Given the description of an element on the screen output the (x, y) to click on. 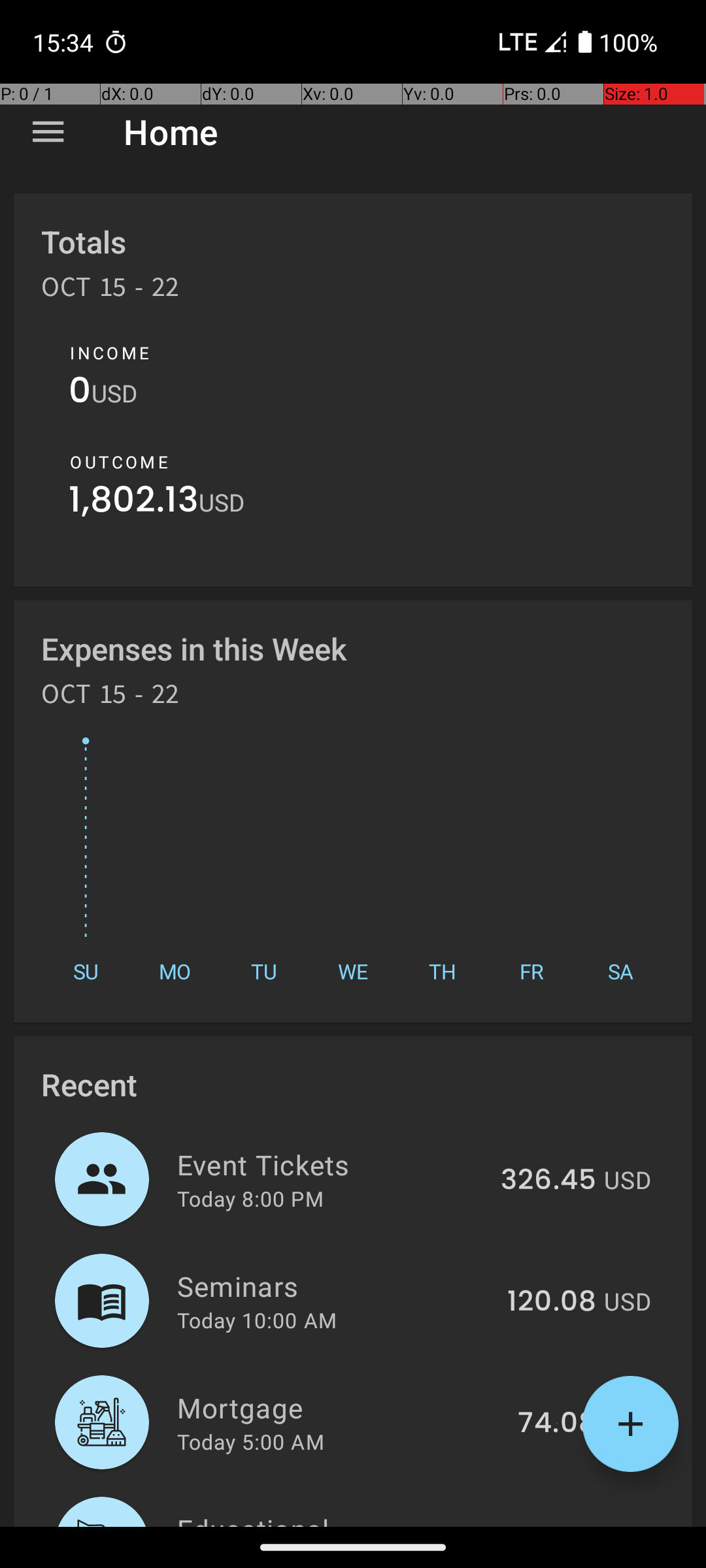
1,802.13 Element type: android.widget.TextView (133, 502)
326.45 Element type: android.widget.TextView (548, 1180)
Seminars Element type: android.widget.TextView (334, 1285)
Today 10:00 AM Element type: android.widget.TextView (256, 1320)
120.08 Element type: android.widget.TextView (551, 1301)
Today 5:00 AM Element type: android.widget.TextView (250, 1441)
74.08 Element type: android.widget.TextView (556, 1423)
Educational Element type: android.widget.TextView (334, 1518)
480.13 Element type: android.widget.TextView (550, 1524)
